Given the description of an element on the screen output the (x, y) to click on. 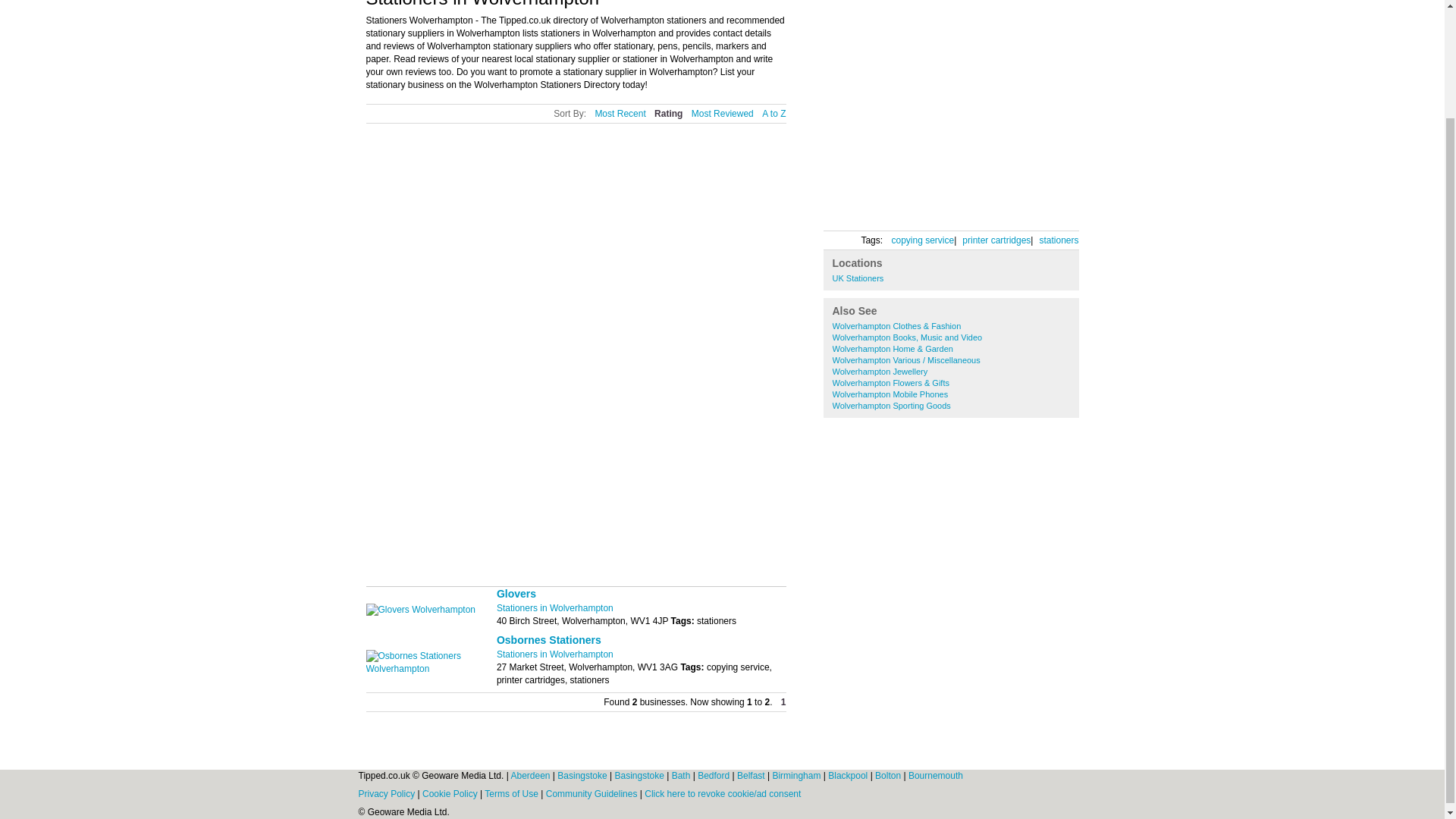
A to Z (773, 113)
Wolverhampton Mobile Phones (890, 393)
Add my business for FREE (903, 208)
Glovers - Stationers in Wolverhampton (420, 609)
Wolverhampton Books, Music and Video (907, 337)
Most Recent (619, 113)
Businesses in Aberdeen (531, 775)
Osbornes Stationers - Stationers in Wolverhampton (430, 668)
Businesses in Bath (682, 775)
Osbornes Stationers - Stationers in Wolverhampton (548, 639)
Wolverhampton Sporting Goods (891, 405)
Businesses in Belfast (751, 775)
Rating (667, 113)
Bedford (714, 775)
Businesses in Blackpool (848, 775)
